Given the description of an element on the screen output the (x, y) to click on. 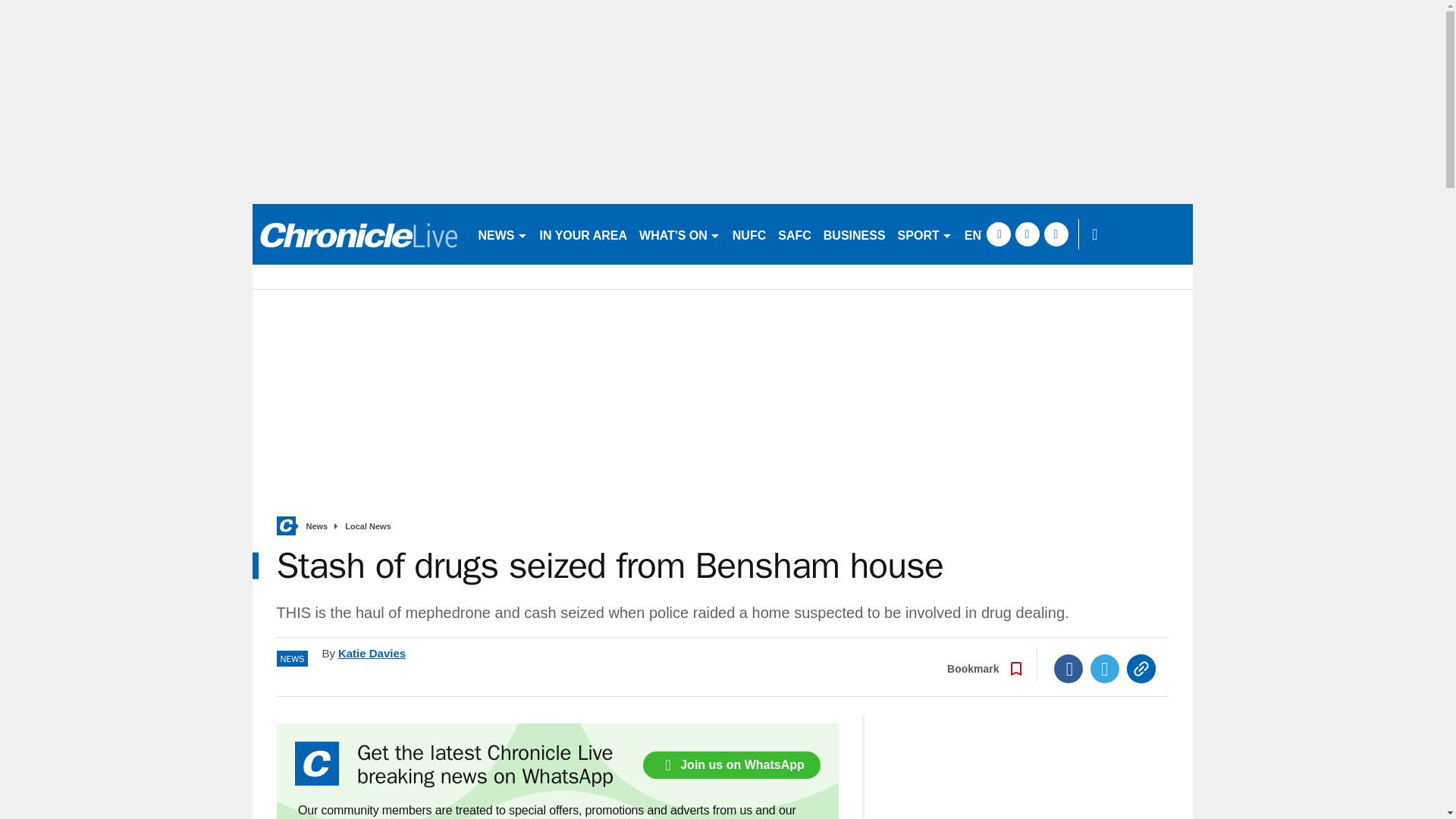
nechronicle (357, 233)
Facebook (1068, 668)
facebook (997, 233)
IN YOUR AREA (583, 233)
NEWS (501, 233)
twitter (1026, 233)
instagram (1055, 233)
WHAT'S ON (679, 233)
BUSINESS (853, 233)
SPORT (924, 233)
Twitter (1104, 668)
